Given the description of an element on the screen output the (x, y) to click on. 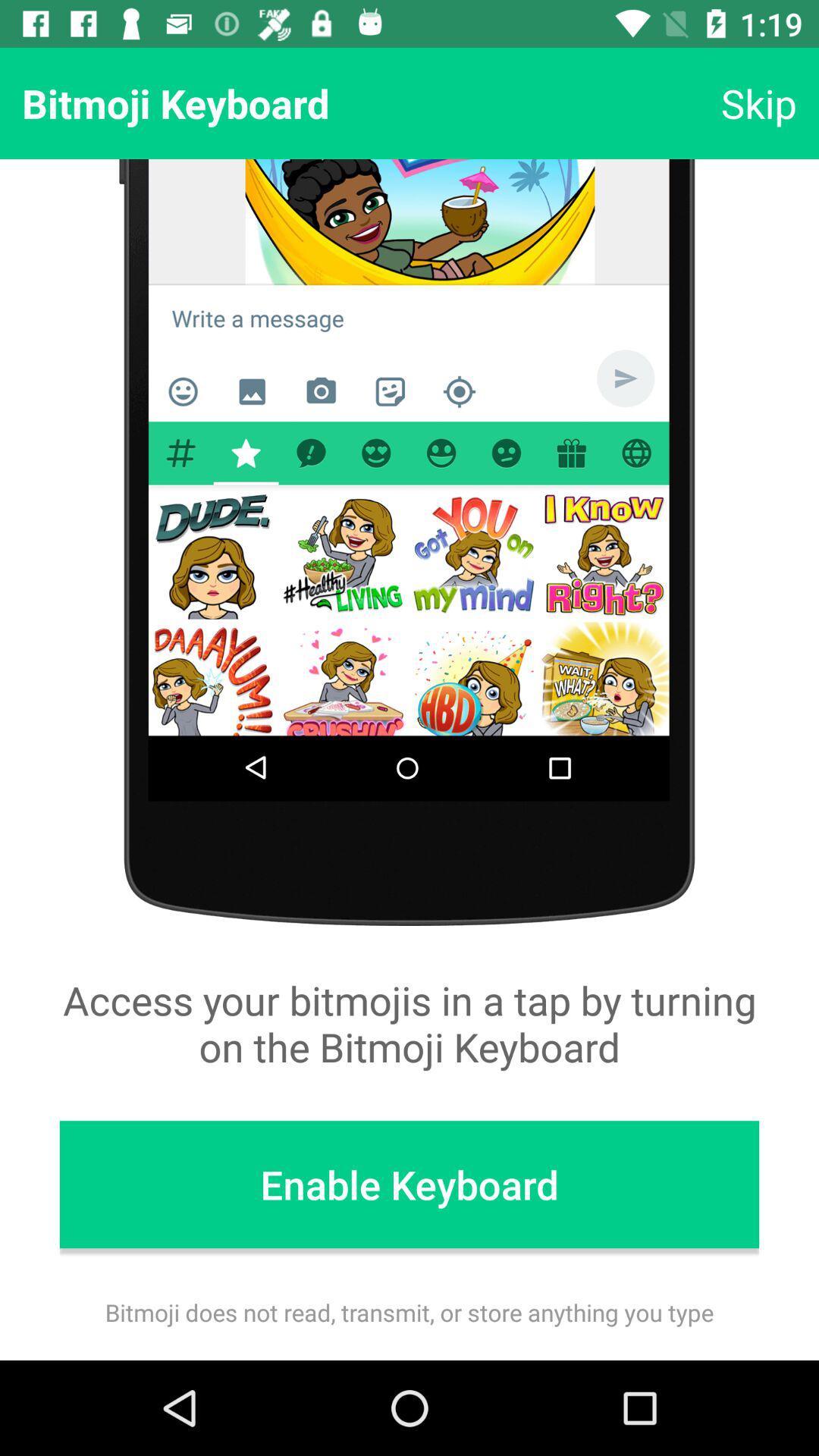
turn on item above access your bitmojis (758, 102)
